Given the description of an element on the screen output the (x, y) to click on. 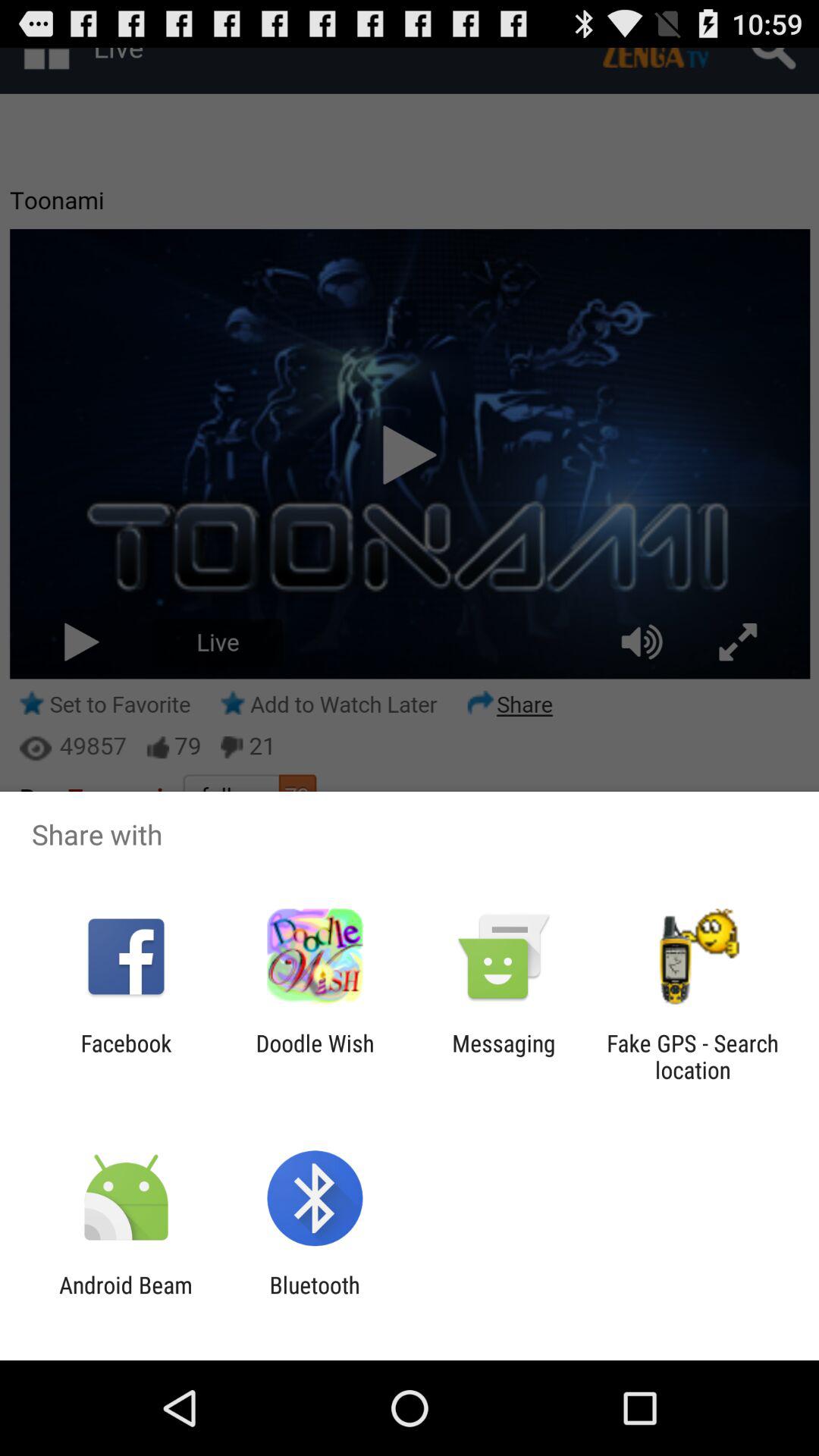
open item next to the doodle wish icon (125, 1056)
